Given the description of an element on the screen output the (x, y) to click on. 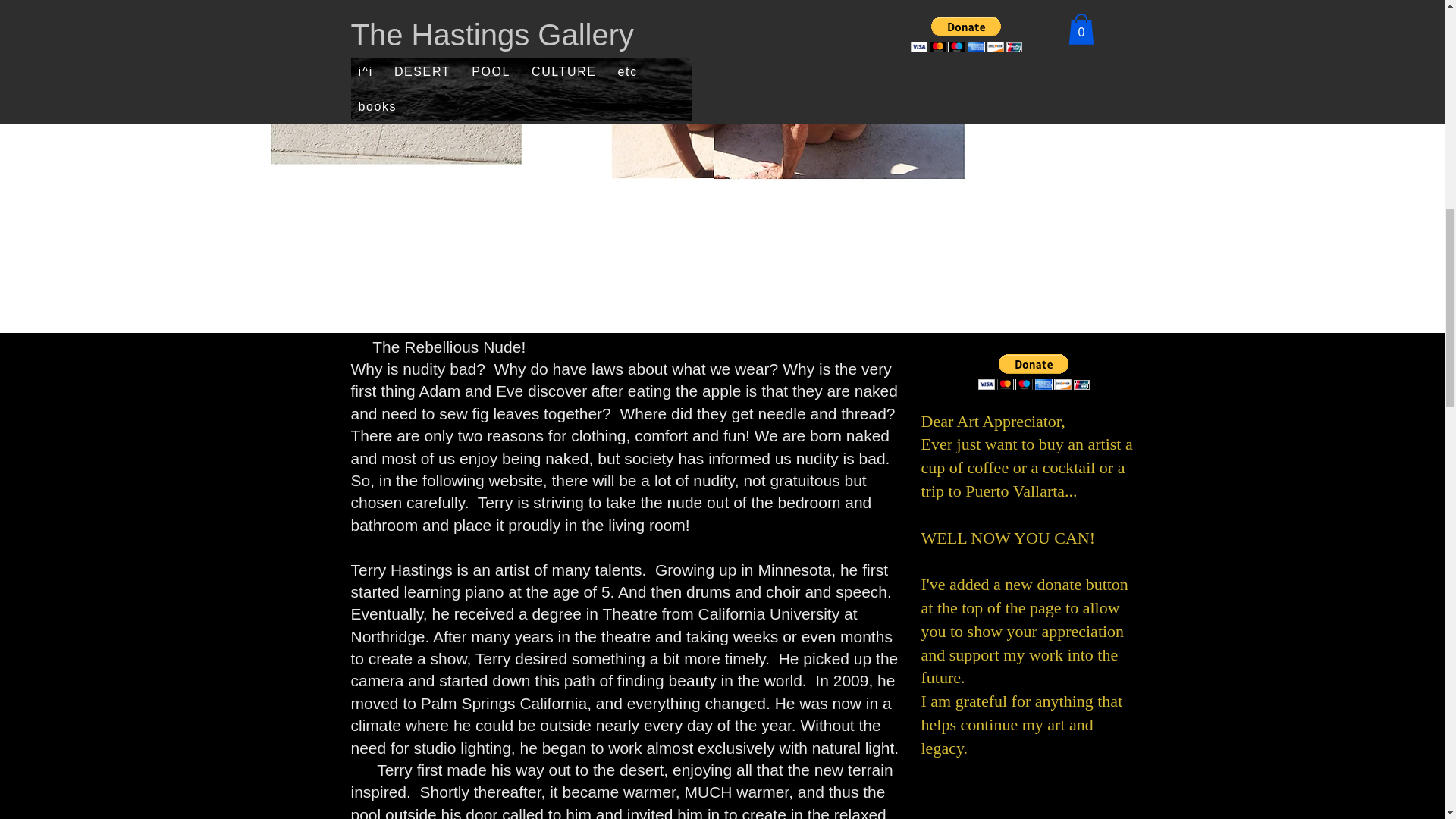
donate button (1033, 379)
